Given the description of an element on the screen output the (x, y) to click on. 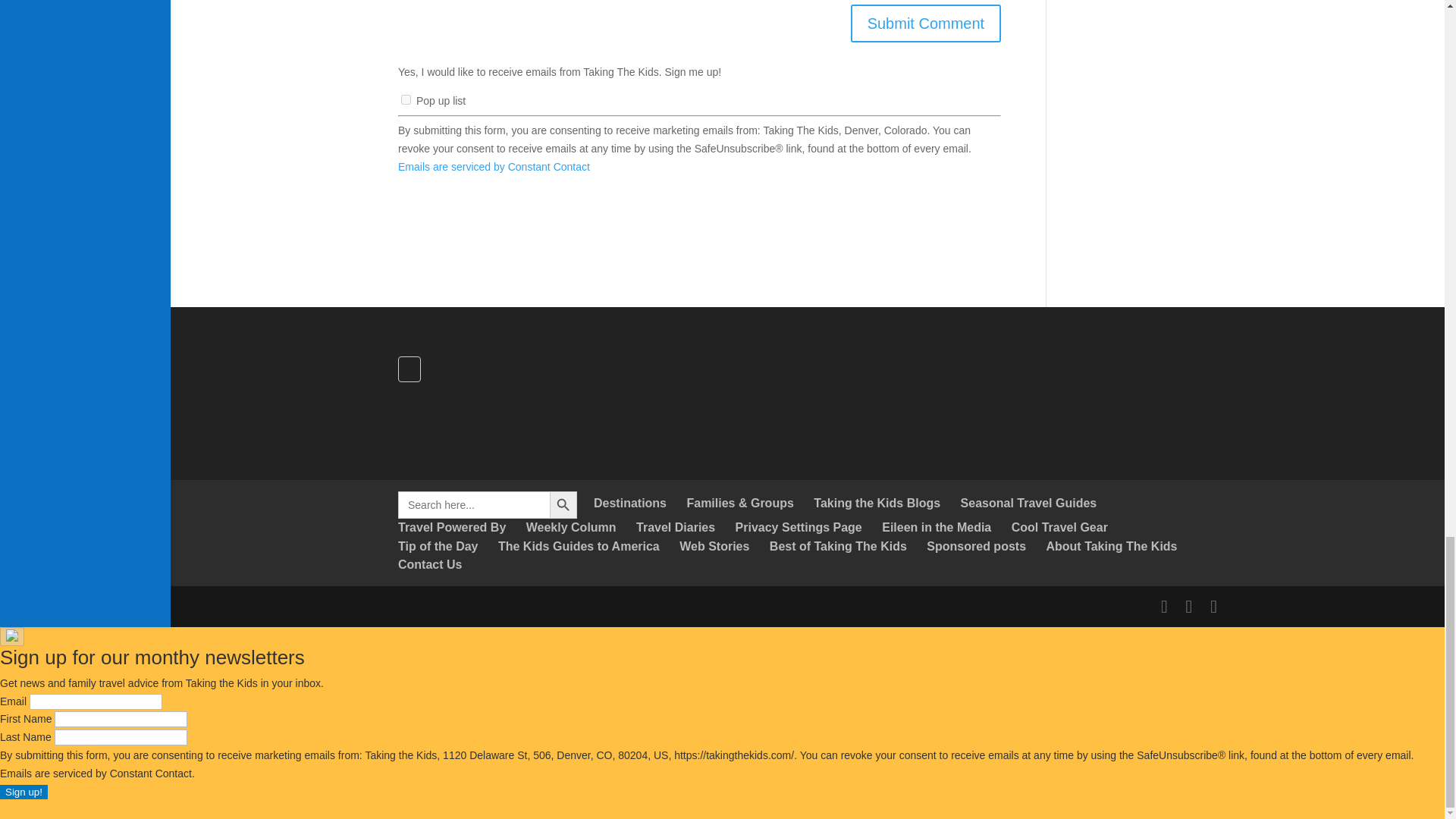
Submit Comment (925, 23)
Close (12, 636)
679276e2-a18b-11ec-9047-fa163ea6032f (405, 99)
